Given the description of an element on the screen output the (x, y) to click on. 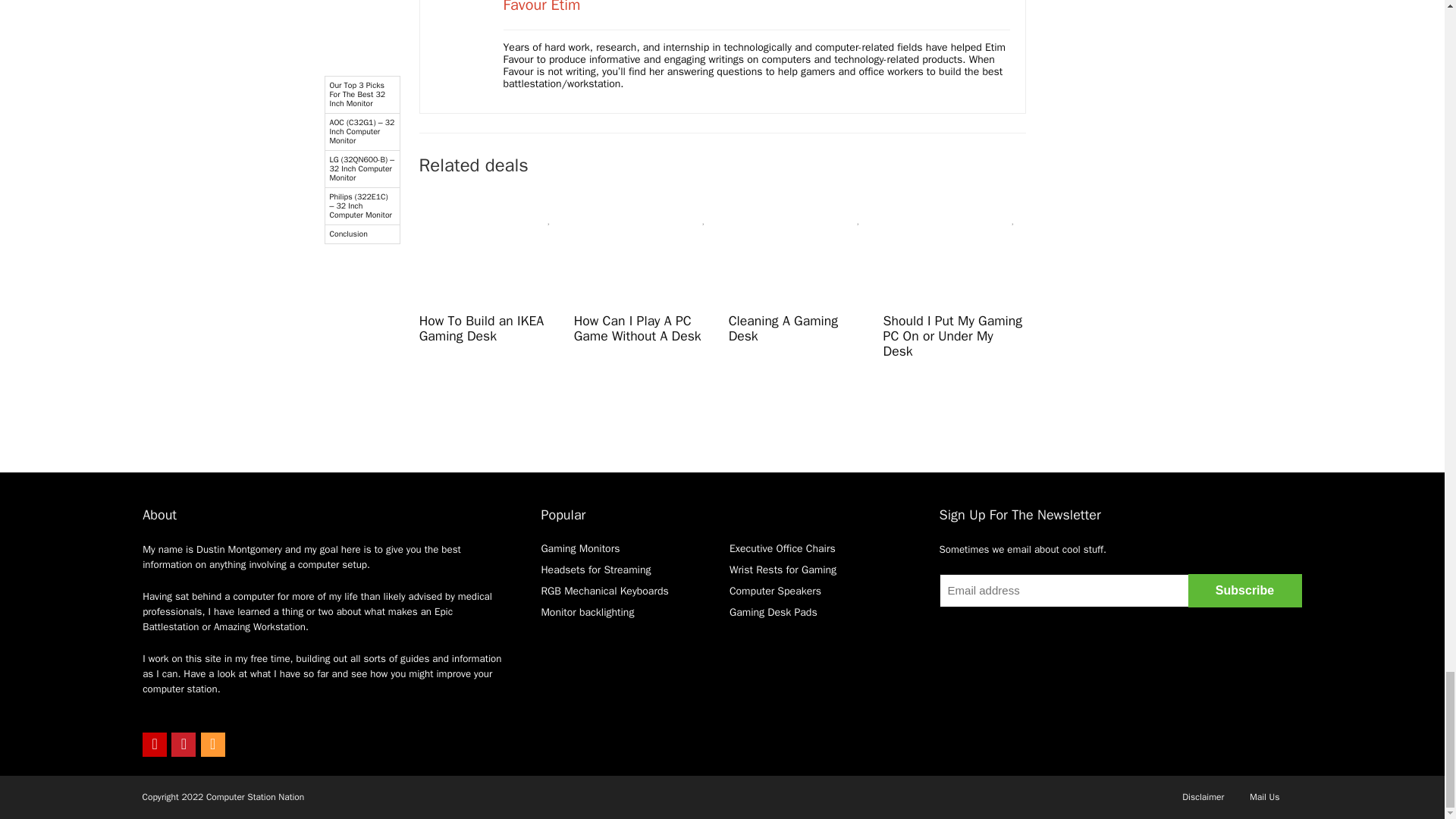
Youtube (154, 744)
RSS (212, 744)
Pinterest (183, 744)
Subscribe (1244, 590)
